Given the description of an element on the screen output the (x, y) to click on. 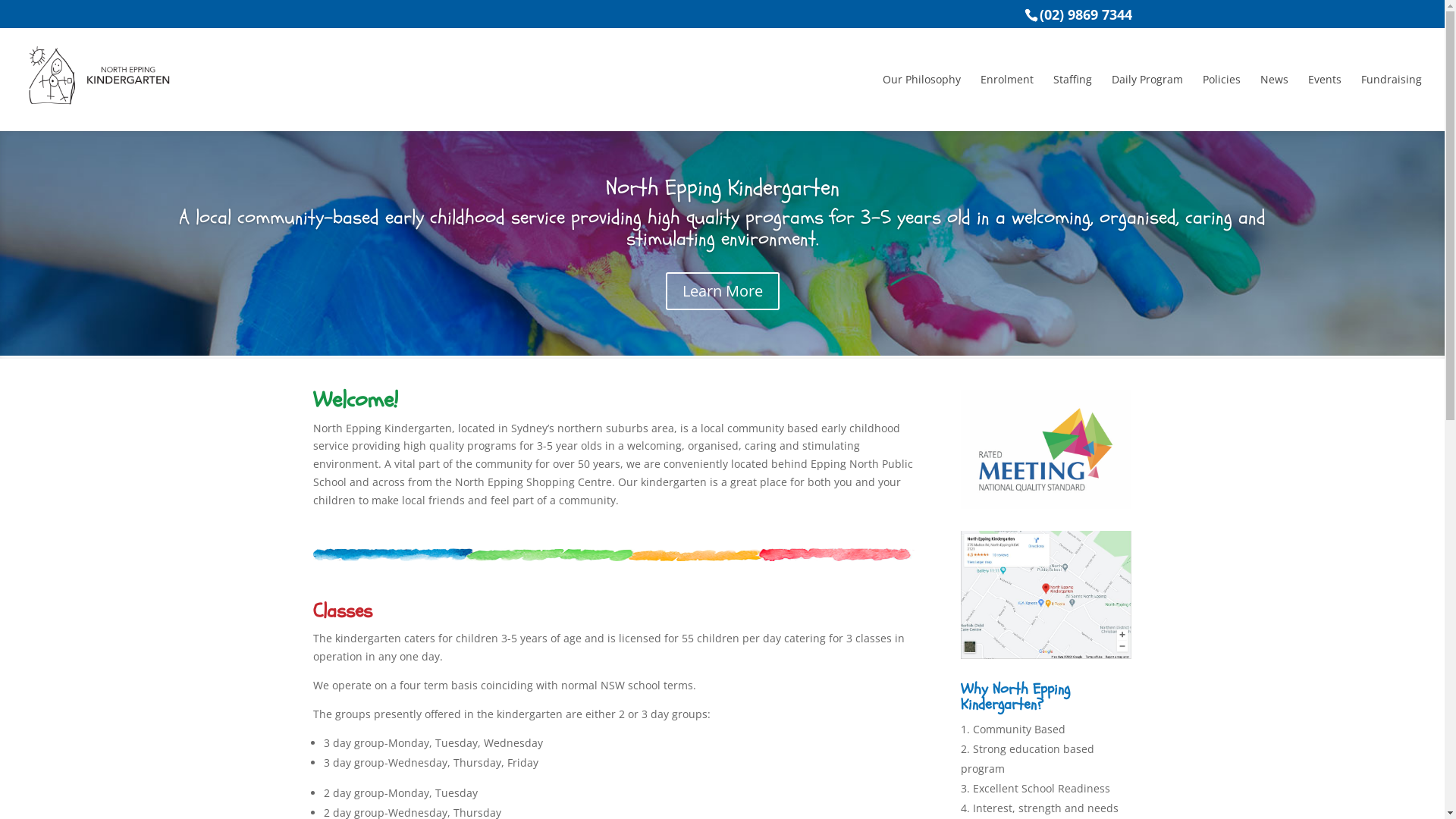
Fundraising Element type: text (1391, 92)
Learn More Element type: text (722, 291)
Staffing Element type: text (1072, 92)
News Element type: text (1274, 92)
Events Element type: text (1324, 92)
Daily Program Element type: text (1147, 92)
Our Philosophy Element type: text (921, 92)
Enrolment Element type: text (1006, 92)
Policies Element type: text (1221, 92)
North Epping Kindergarten Element type: text (721, 187)
